Given the description of an element on the screen output the (x, y) to click on. 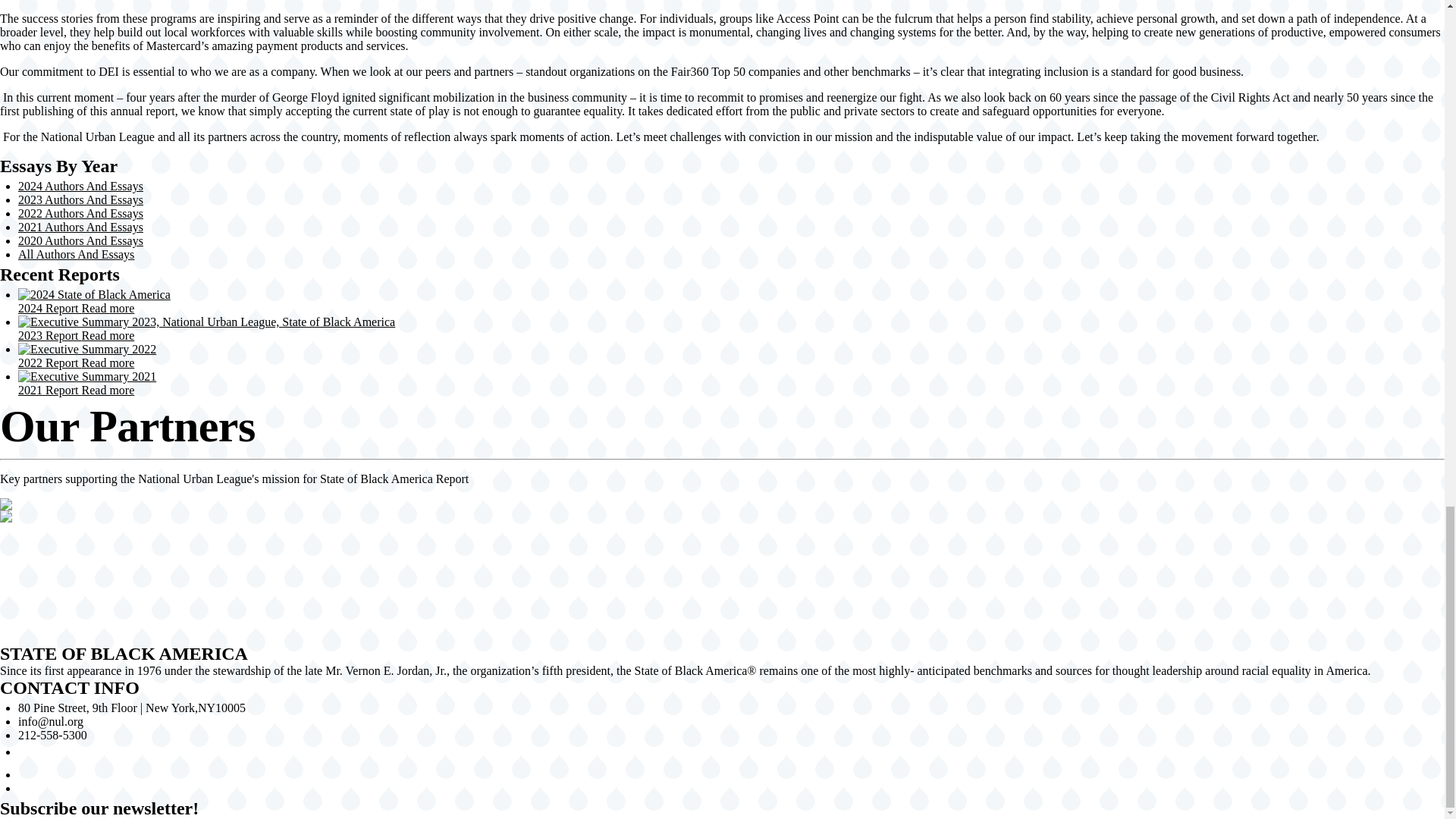
Share to Linkedin (721, 607)
Share to X (721, 582)
Share to Facebook (721, 558)
Twitter (23, 774)
